Given the description of an element on the screen output the (x, y) to click on. 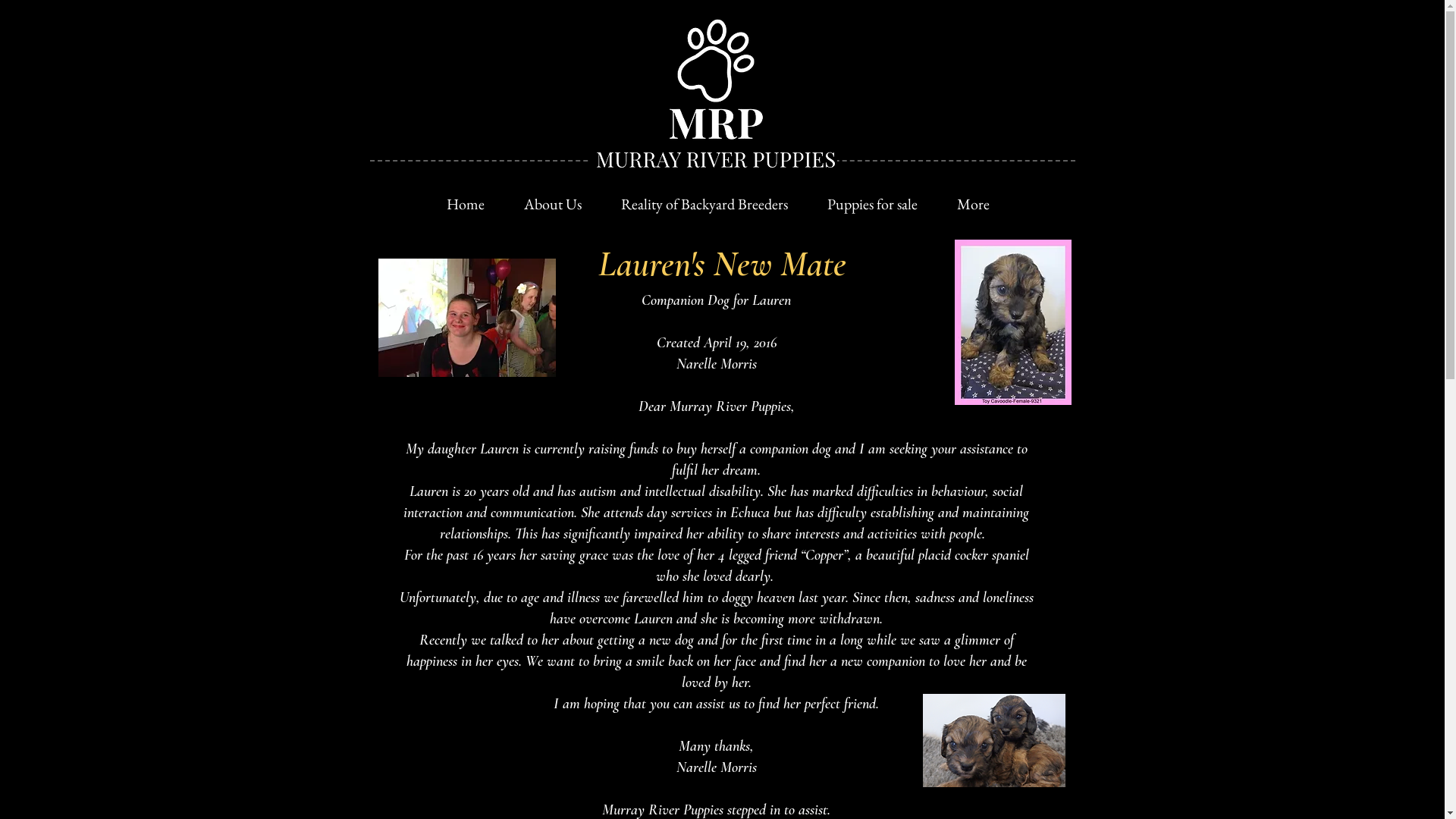
Puppies for sale Element type: text (871, 204)
Home Element type: text (464, 204)
About Us Element type: text (551, 204)
Reality of Backyard Breeders Element type: text (703, 204)
